Given the description of an element on the screen output the (x, y) to click on. 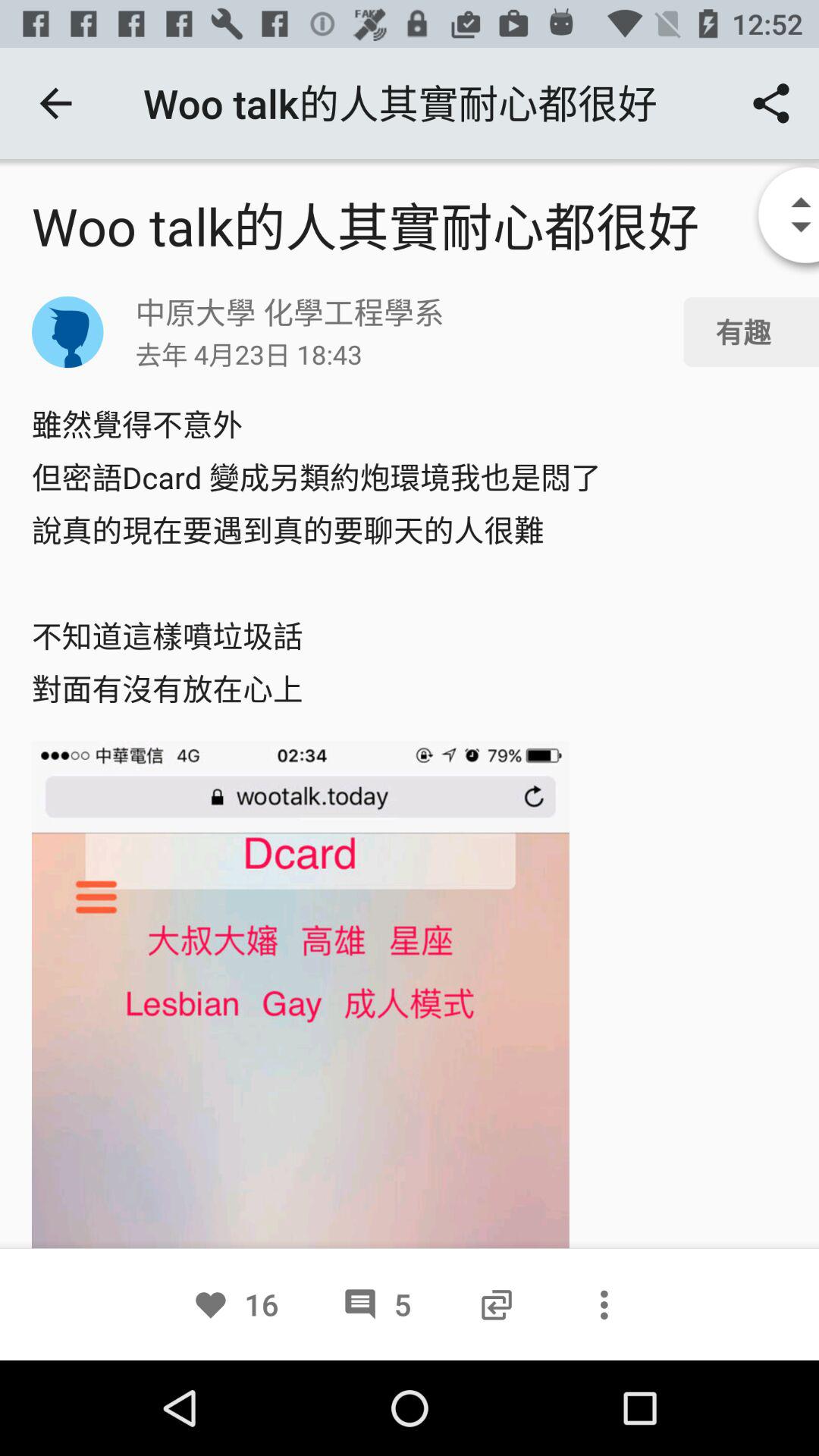
press item to the left of the 5 (235, 1304)
